Given the description of an element on the screen output the (x, y) to click on. 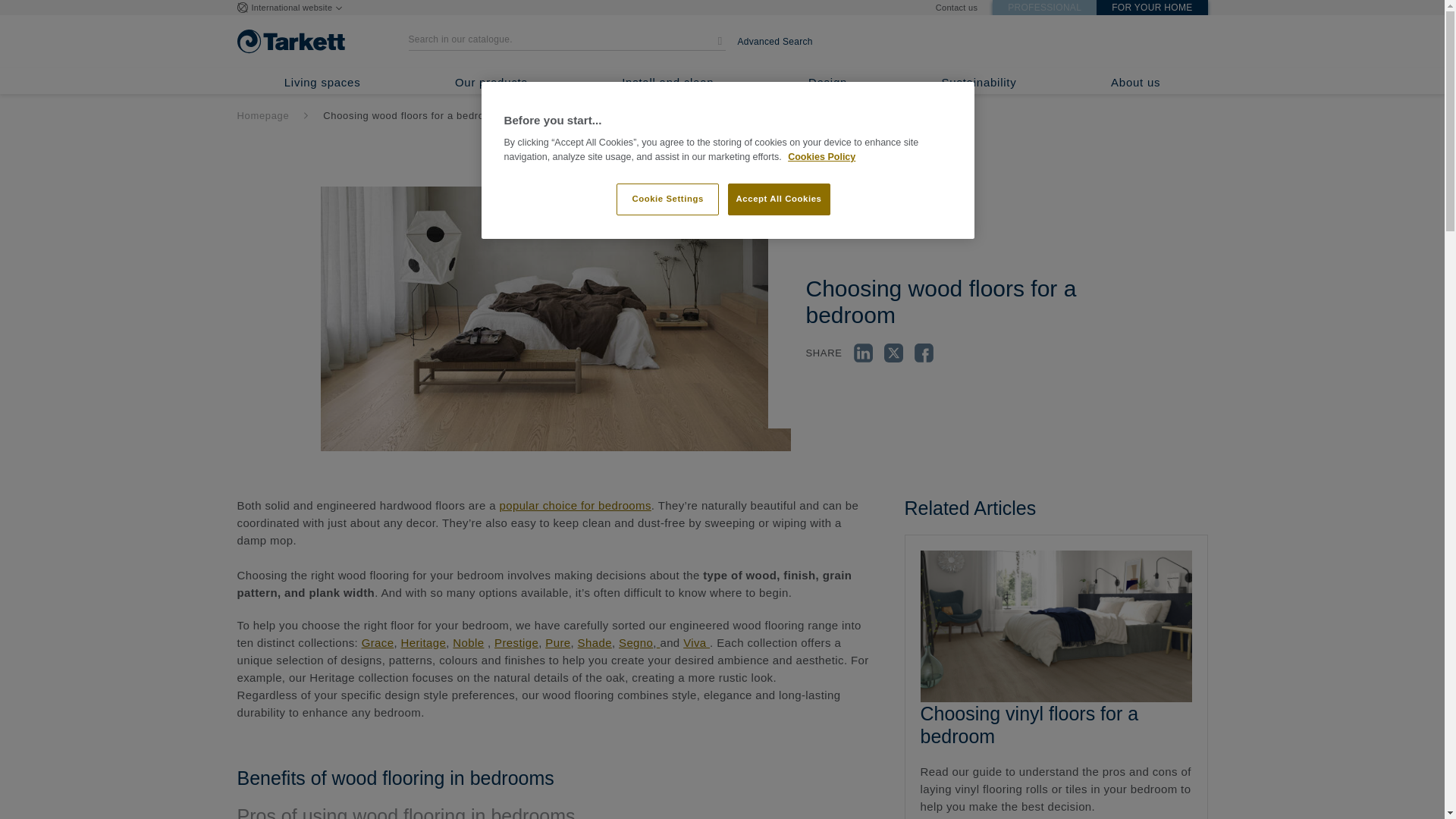
Contact us (956, 7)
Advanced Search (774, 41)
PROFESSIONAL (1044, 7)
FOR YOUR HOME (1151, 7)
